Given the description of an element on the screen output the (x, y) to click on. 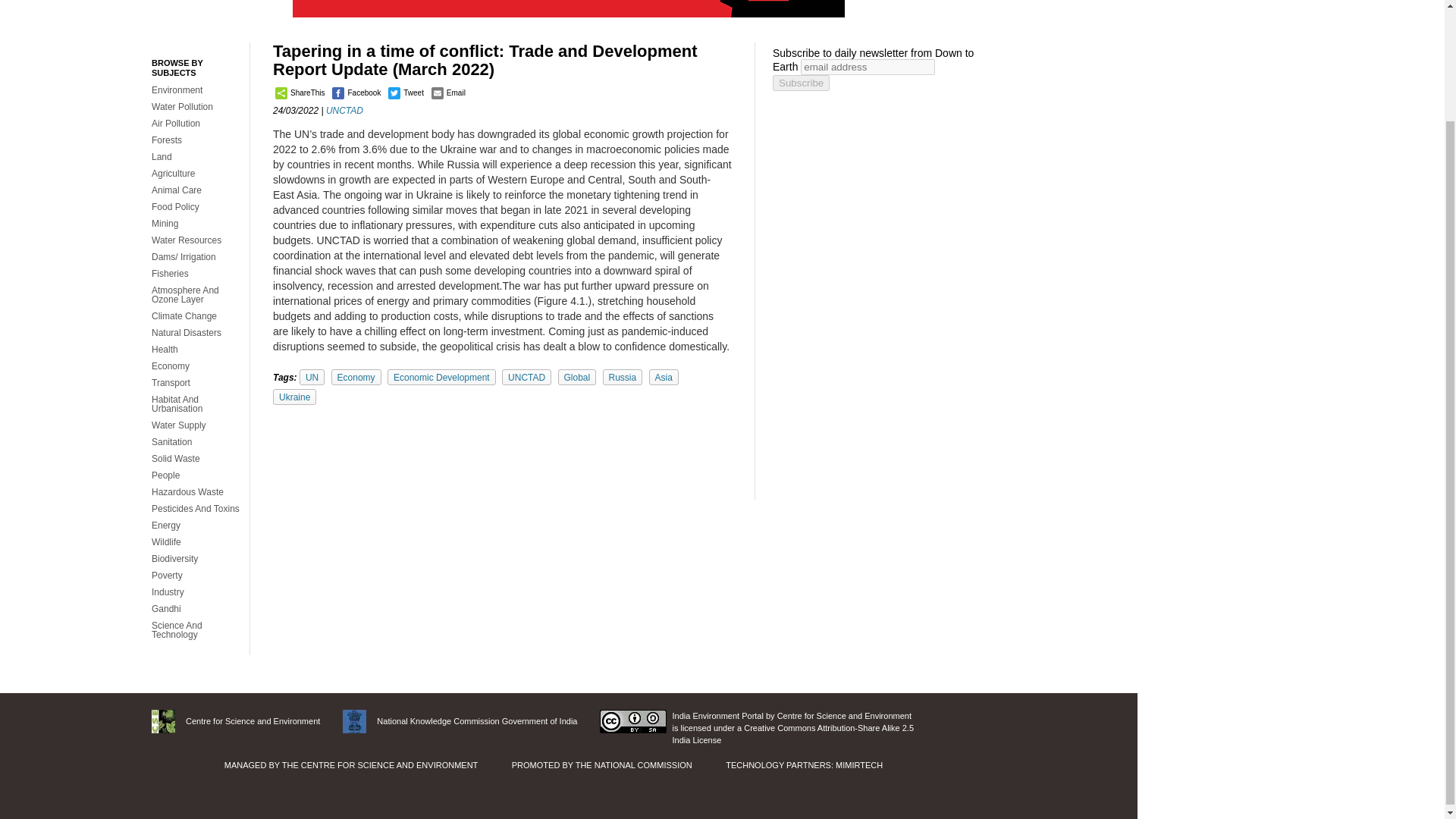
Subscribe (801, 82)
